Given the description of an element on the screen output the (x, y) to click on. 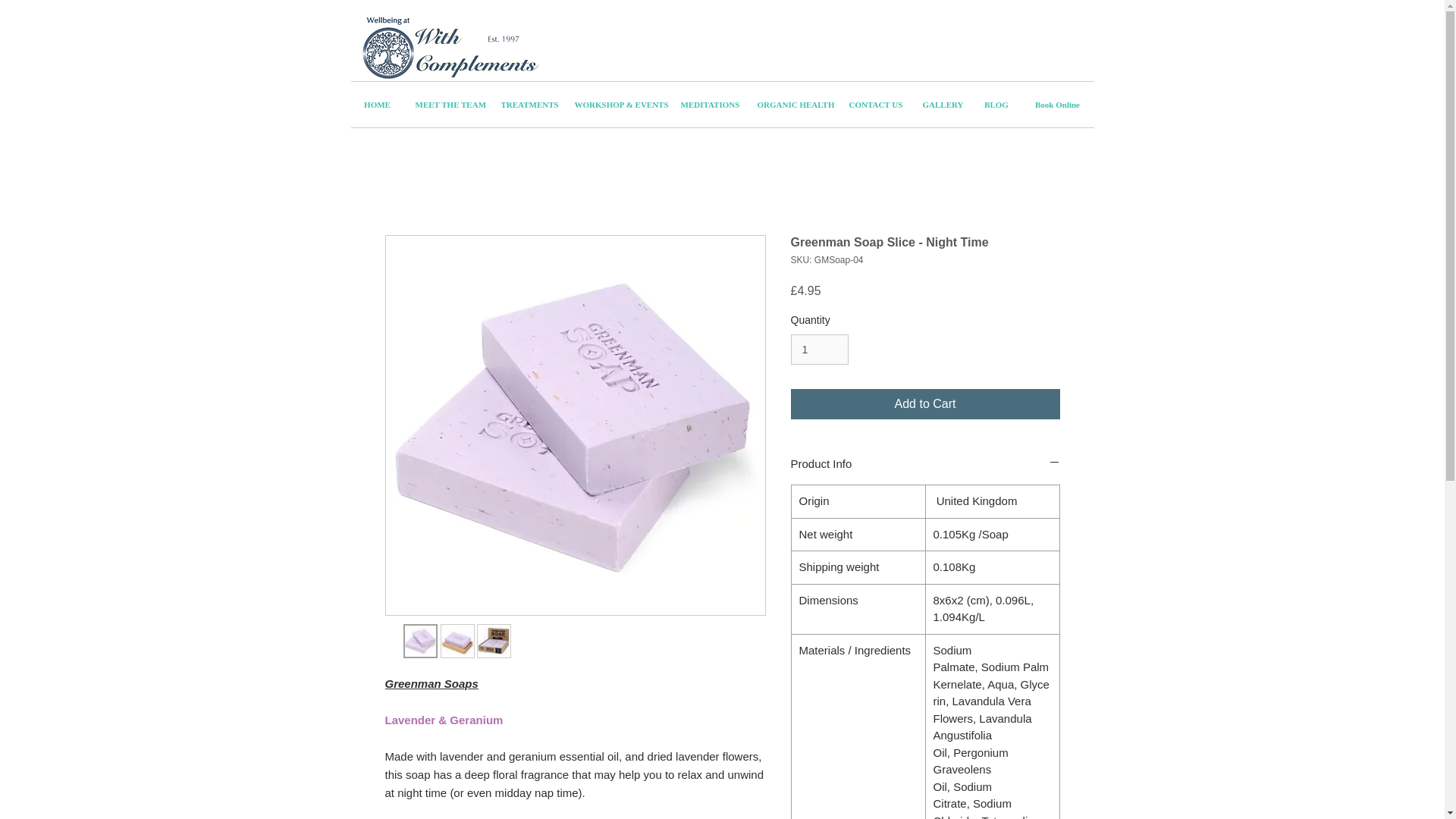
TREATMENTS (526, 104)
Add to Cart (924, 404)
HOME (376, 104)
Product Info (924, 463)
CONTACT US (874, 104)
BLOG (997, 104)
GALLERY (941, 104)
ORGANIC HEALTH (791, 104)
MEET THE TEAM (446, 104)
MEDITATIONS (706, 104)
1 (818, 349)
Book Online (1056, 104)
